Given the description of an element on the screen output the (x, y) to click on. 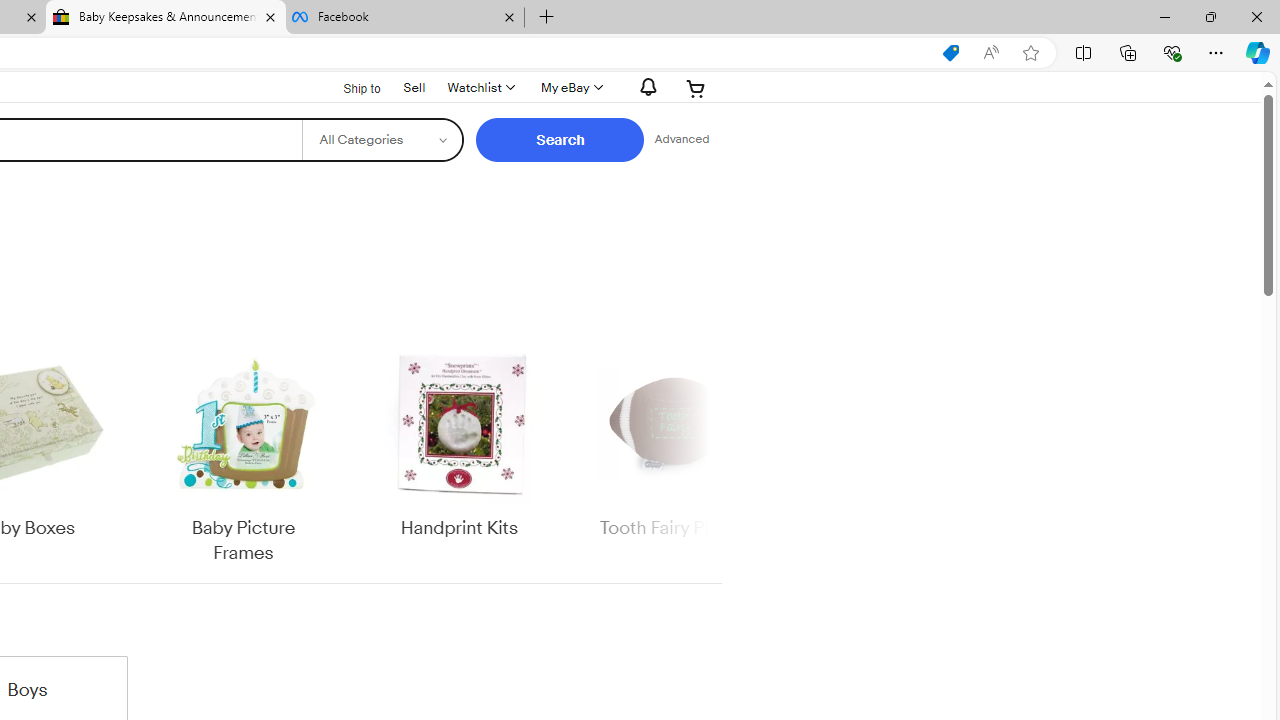
Ship to (349, 89)
Go to next slide (708, 455)
Handprint Kits (459, 455)
Baby Picture Frames (243, 455)
Your shopping cart (696, 88)
Select a category for search (382, 139)
Sell (413, 86)
Baby Picture Frames (243, 455)
Expand Cart (696, 88)
